Given the description of an element on the screen output the (x, y) to click on. 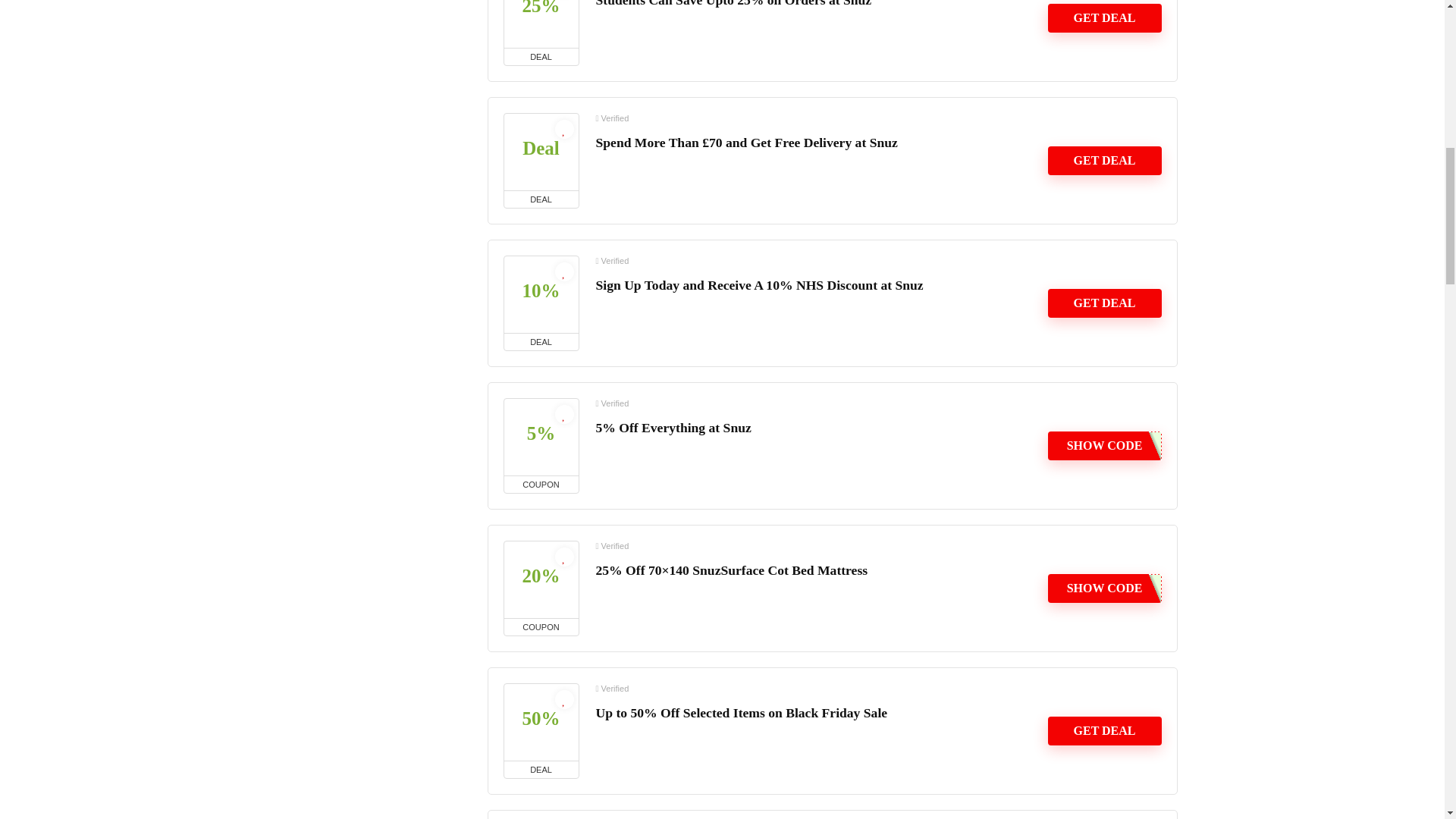
GET DEAL (1104, 303)
Deal (540, 151)
GET DEAL (1104, 160)
GET DEAL (1104, 18)
